Given the description of an element on the screen output the (x, y) to click on. 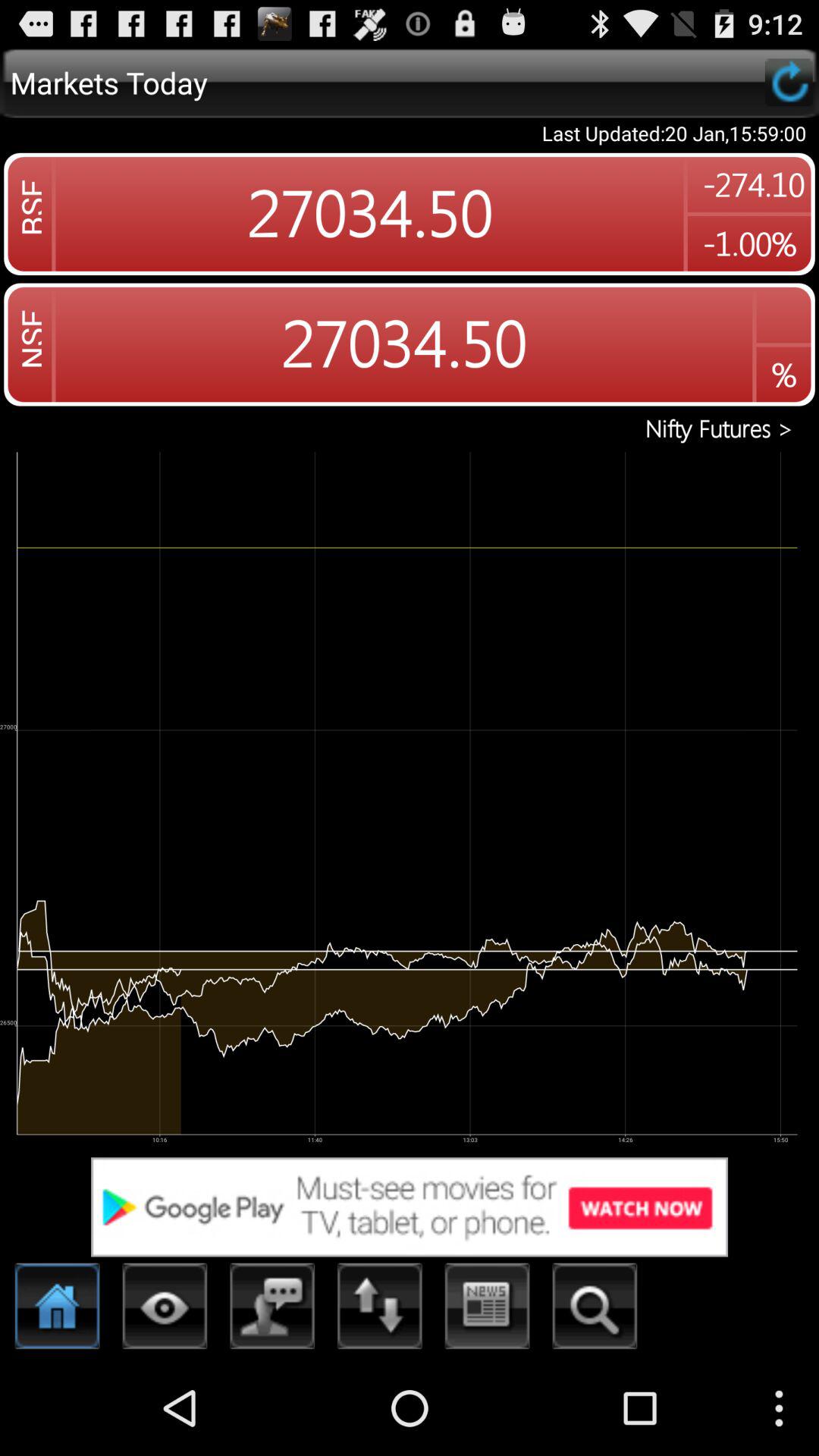
go home (57, 1310)
